Given the description of an element on the screen output the (x, y) to click on. 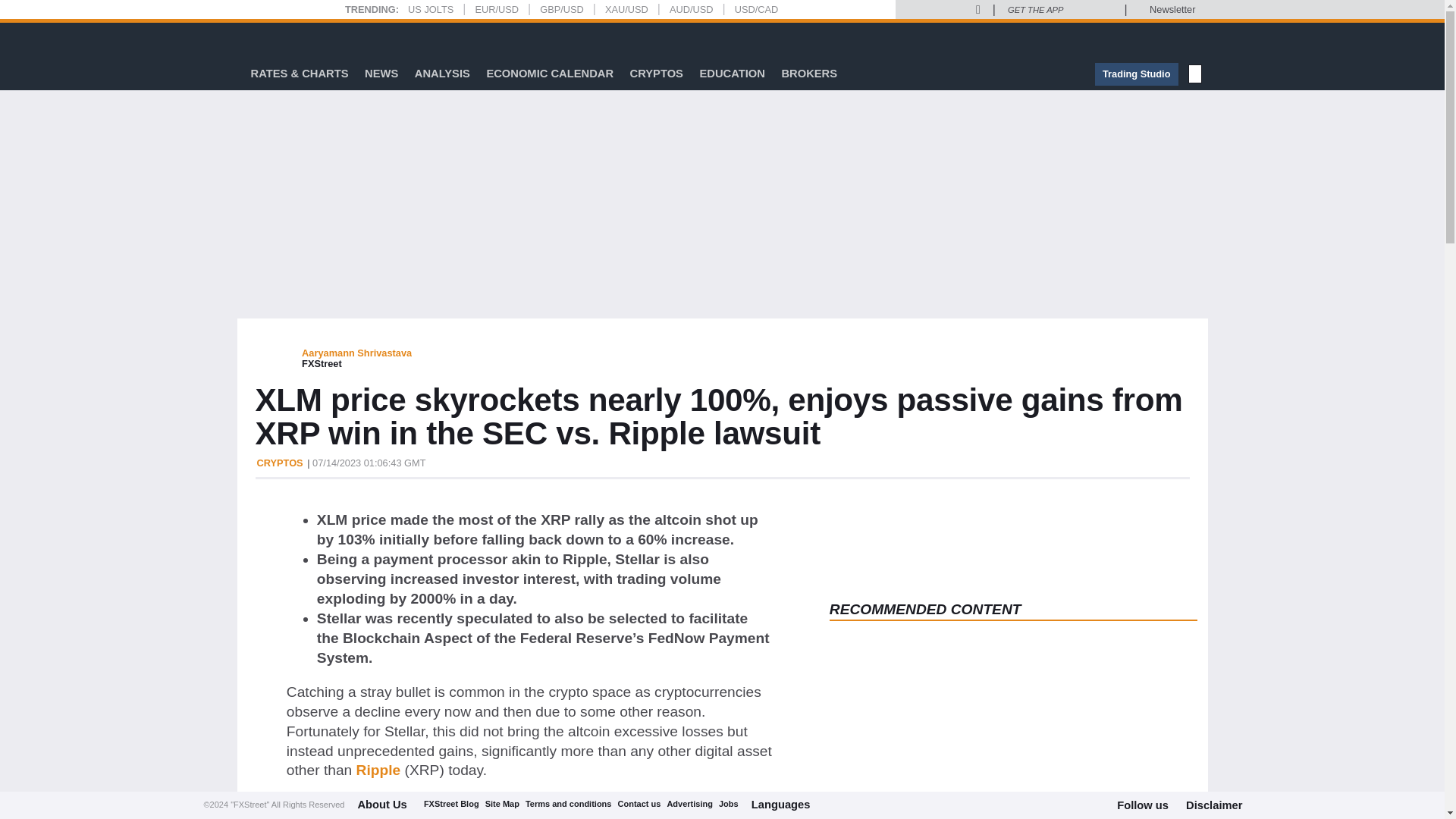
Newsletter (1172, 9)
FXStreet (290, 39)
FXStreet (290, 39)
US JOLTS (429, 9)
